Given the description of an element on the screen output the (x, y) to click on. 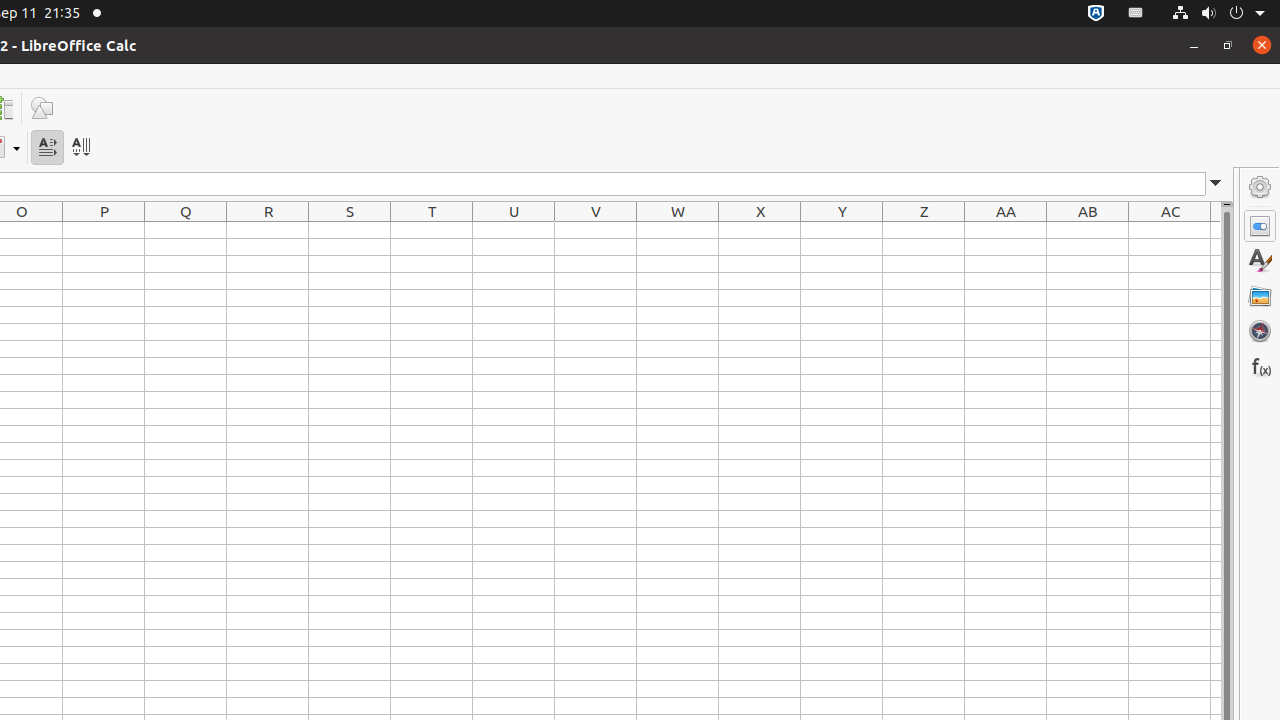
Z1 Element type: table-cell (924, 230)
S1 Element type: table-cell (350, 230)
